Given the description of an element on the screen output the (x, y) to click on. 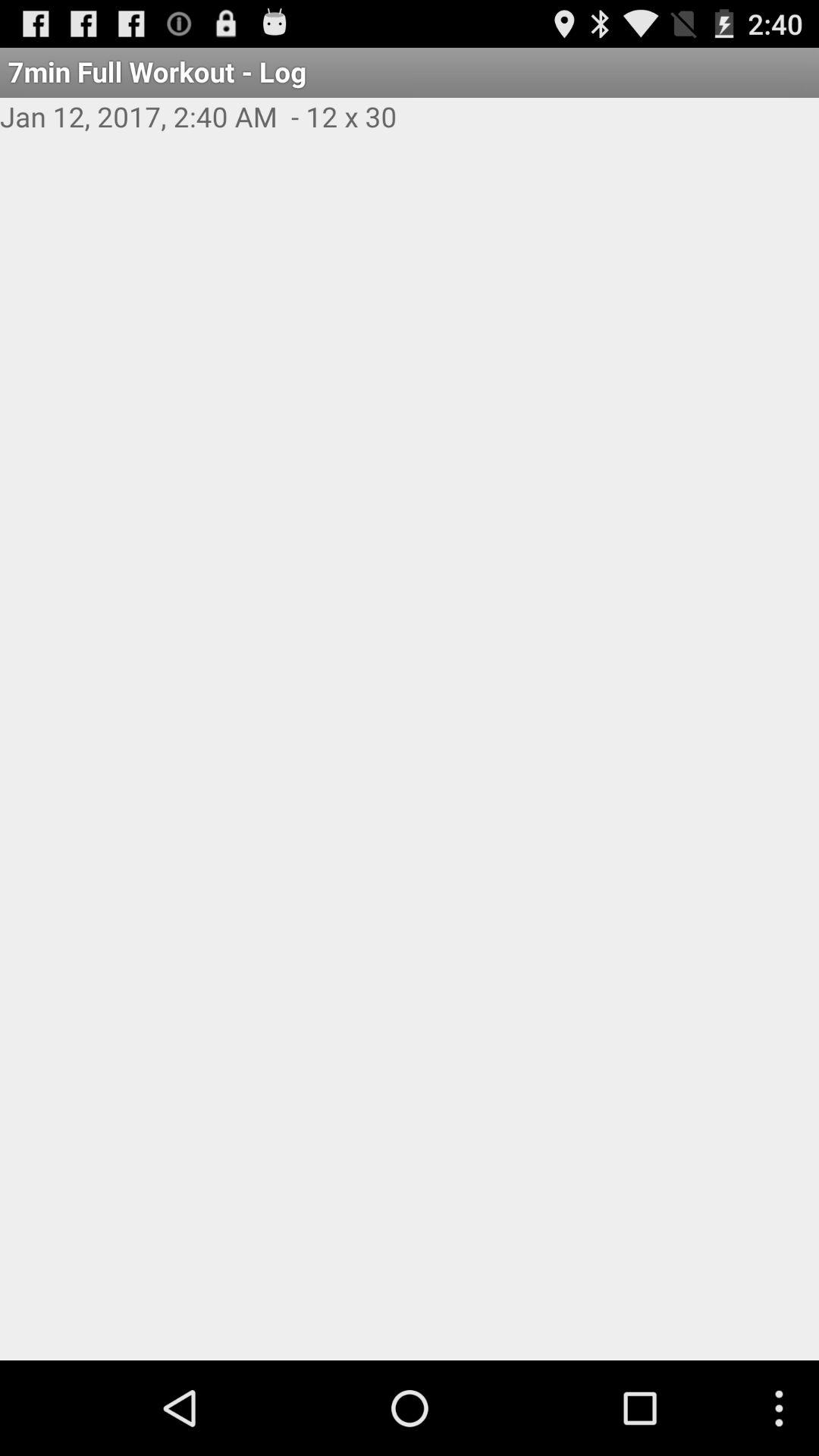
press the jan 12 2017 (409, 132)
